Given the description of an element on the screen output the (x, y) to click on. 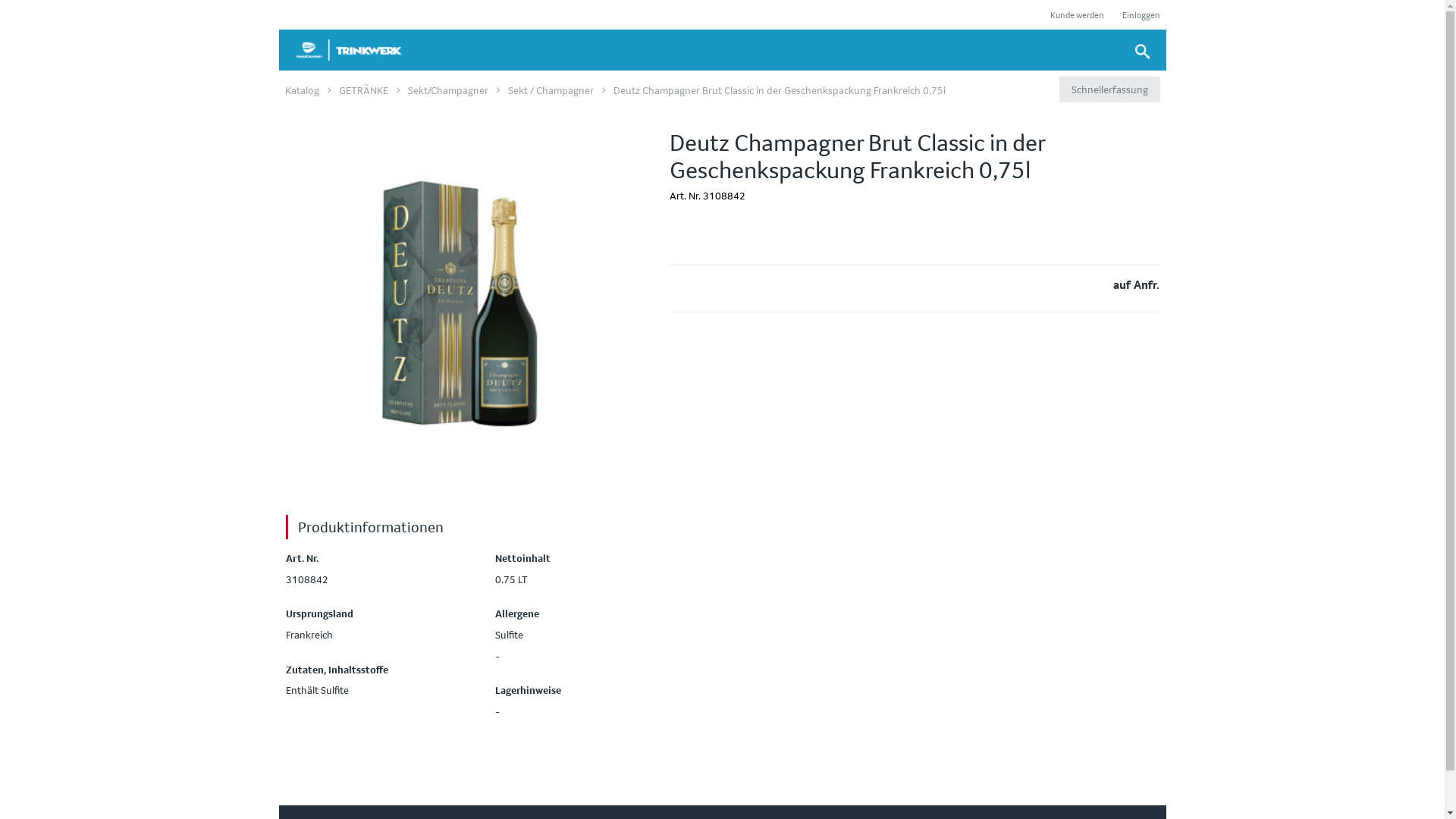
Schnellerfassung Element type: text (1108, 89)
Kunde werden Element type: text (1076, 14)
Sekt/Champagner Element type: text (447, 90)
Einloggen Element type: text (1141, 14)
Sekt / Champagner Element type: text (550, 90)
Katalog Element type: text (302, 90)
